Given the description of an element on the screen output the (x, y) to click on. 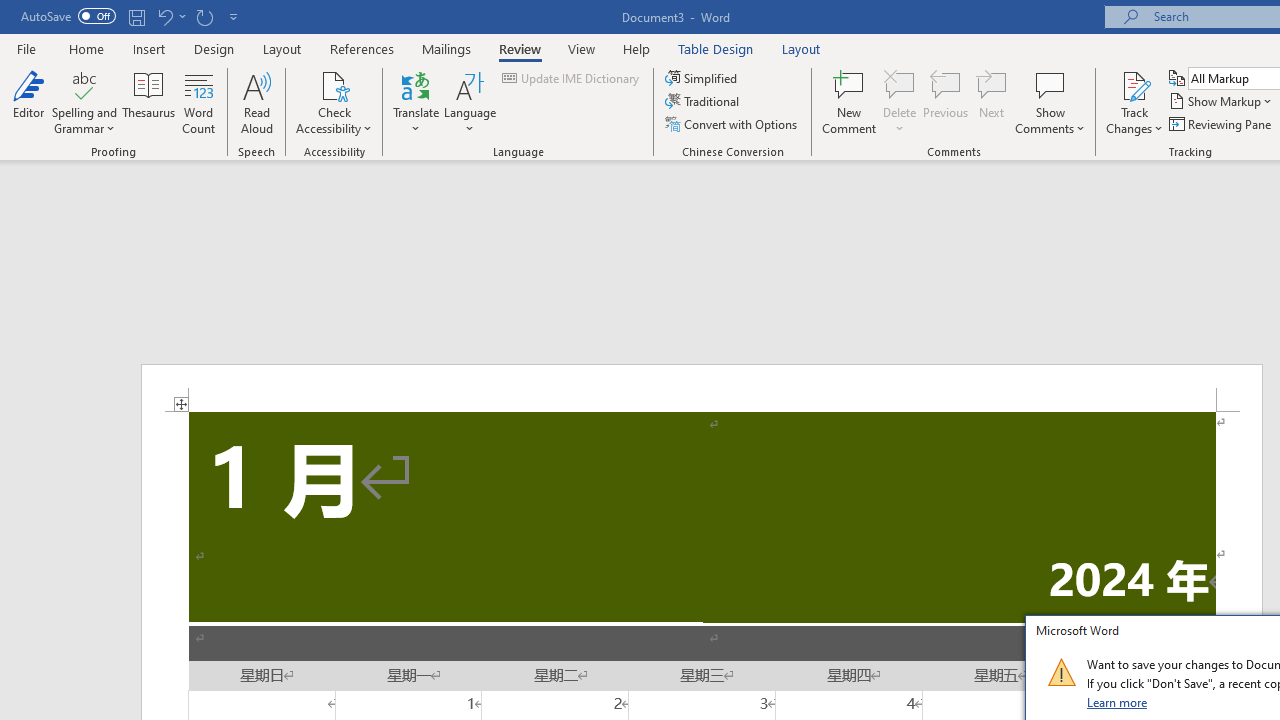
Show Markup (1222, 101)
Track Changes (1134, 102)
New Comment (849, 102)
Update IME Dictionary... (572, 78)
Check Accessibility (334, 102)
Simplified (702, 78)
Word Count (198, 102)
